Given the description of an element on the screen output the (x, y) to click on. 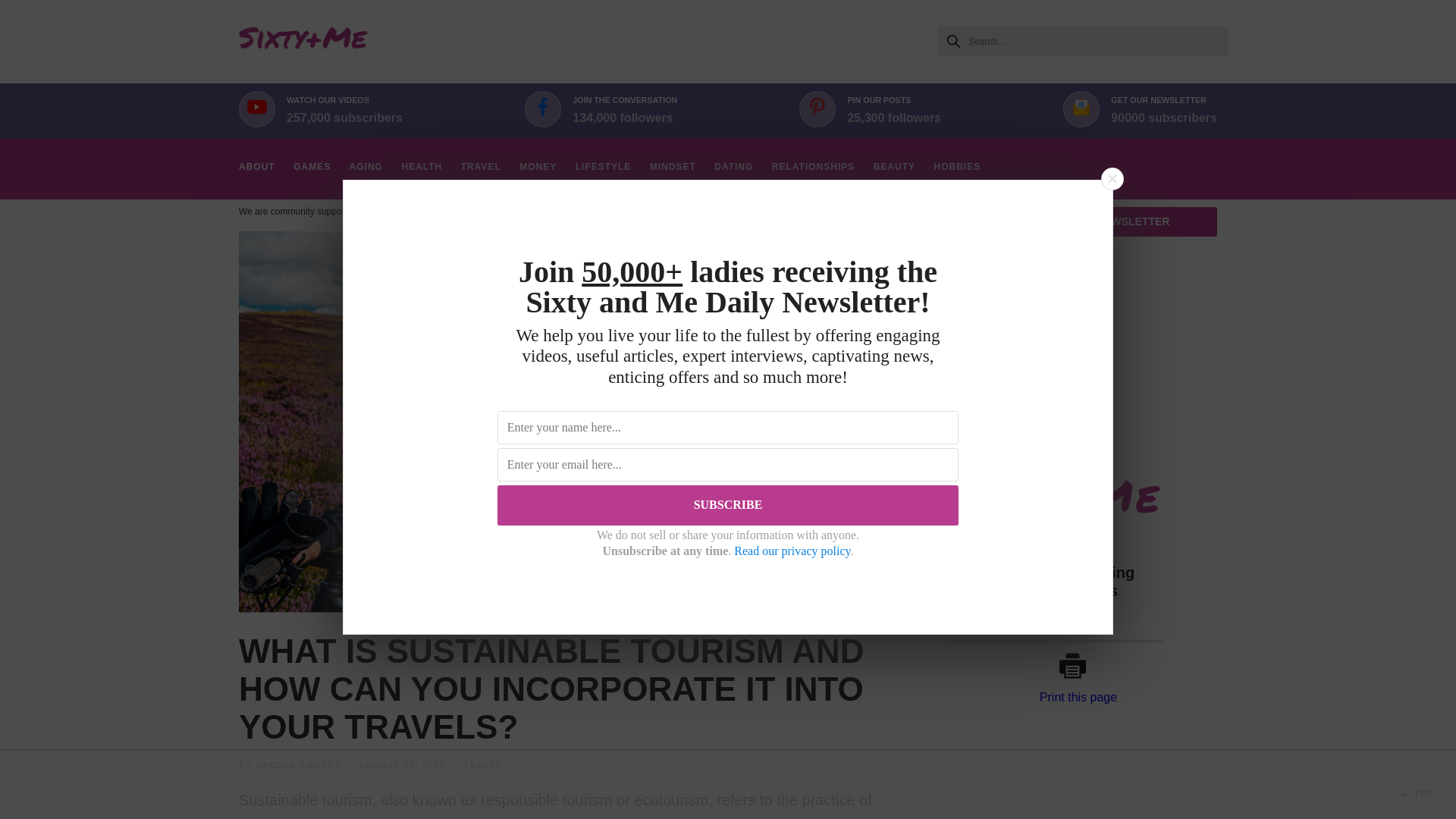
Sixty and Me (303, 40)
print this page (1077, 665)
Search... (1082, 41)
